Given the description of an element on the screen output the (x, y) to click on. 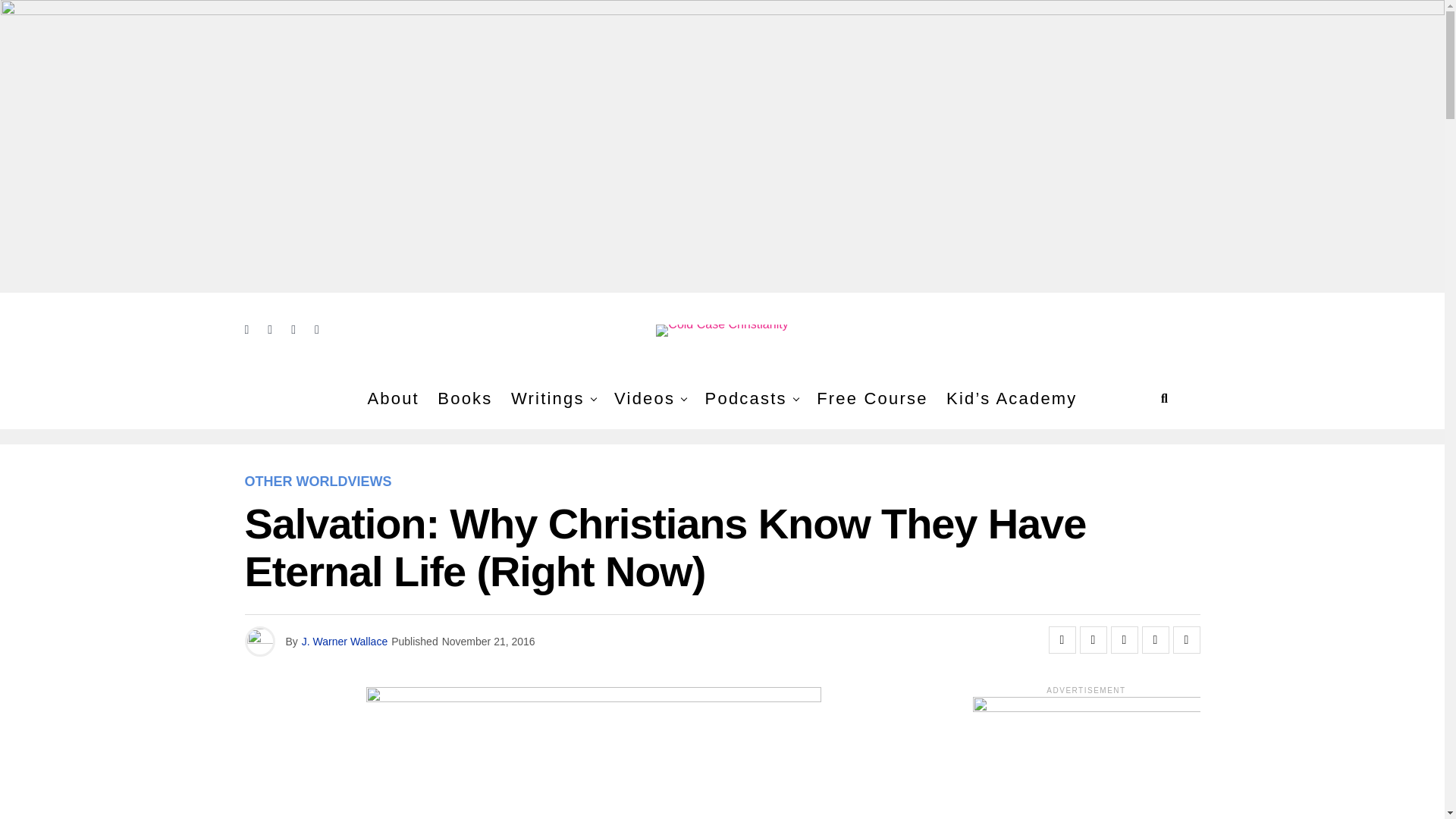
Posts by J. Warner Wallace (344, 641)
Share on Flipboard (1123, 639)
Share on Facebook (1061, 639)
Tweet This Post (1093, 639)
